Given the description of an element on the screen output the (x, y) to click on. 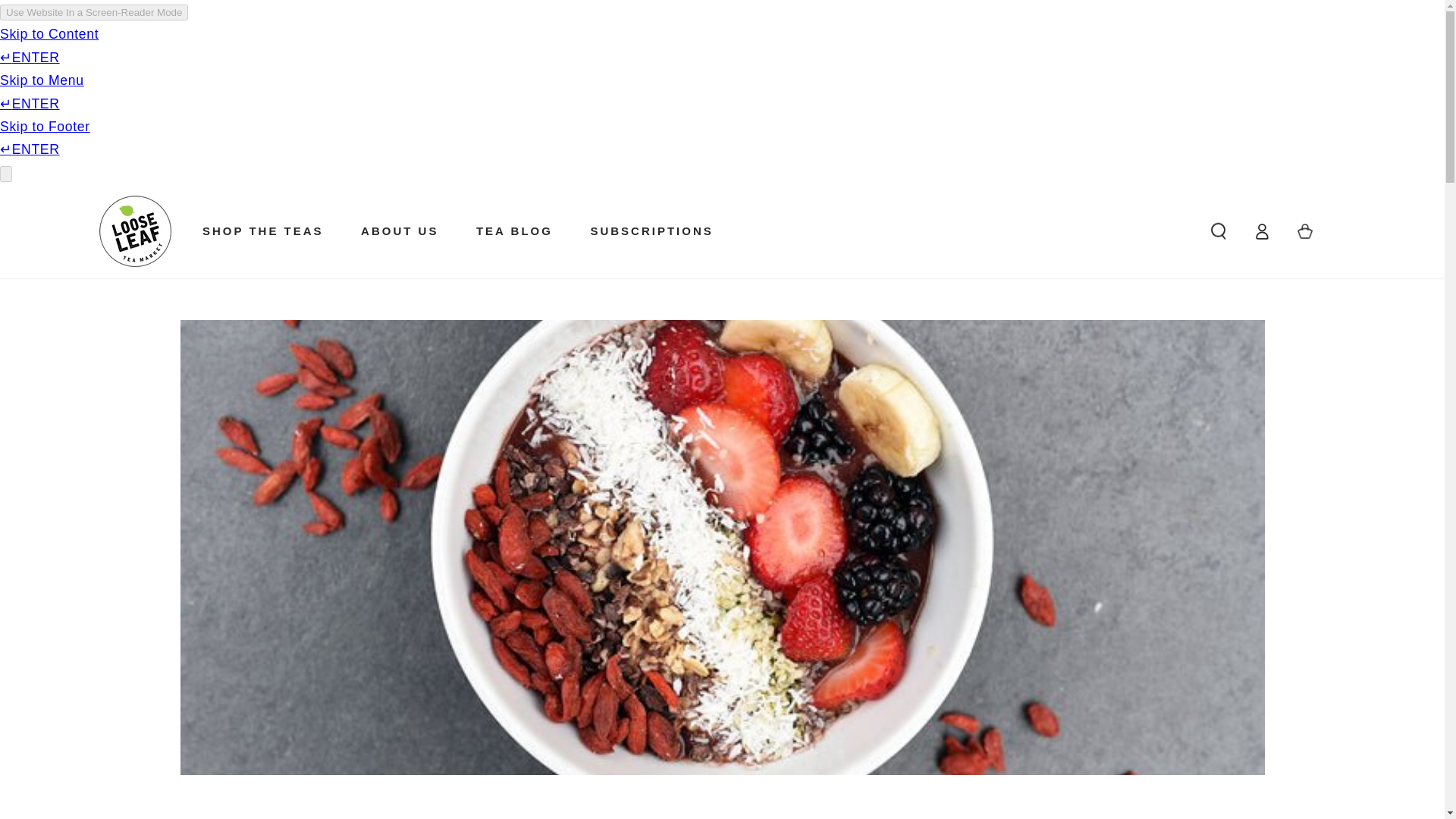
SKIP TO CONTENT (74, 200)
ABOUT US (400, 230)
Cart (1305, 230)
SUBSCRIPTIONS (651, 230)
Log in (1262, 230)
TEA BLOG (513, 230)
Back to the frontpage (666, 818)
SHOP THE TEAS (262, 230)
